Given the description of an element on the screen output the (x, y) to click on. 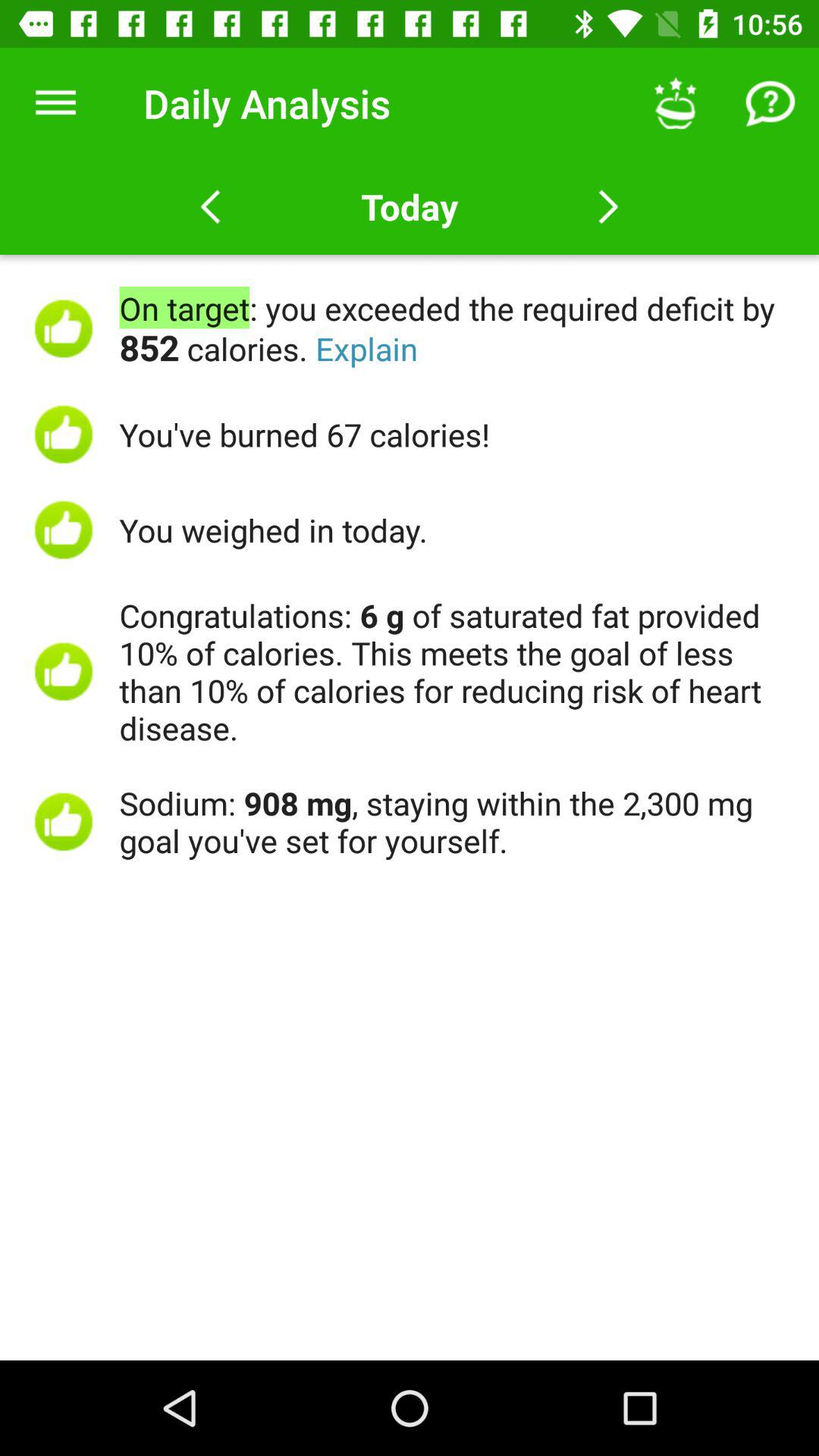
turn off the icon to the right of today (675, 103)
